Given the description of an element on the screen output the (x, y) to click on. 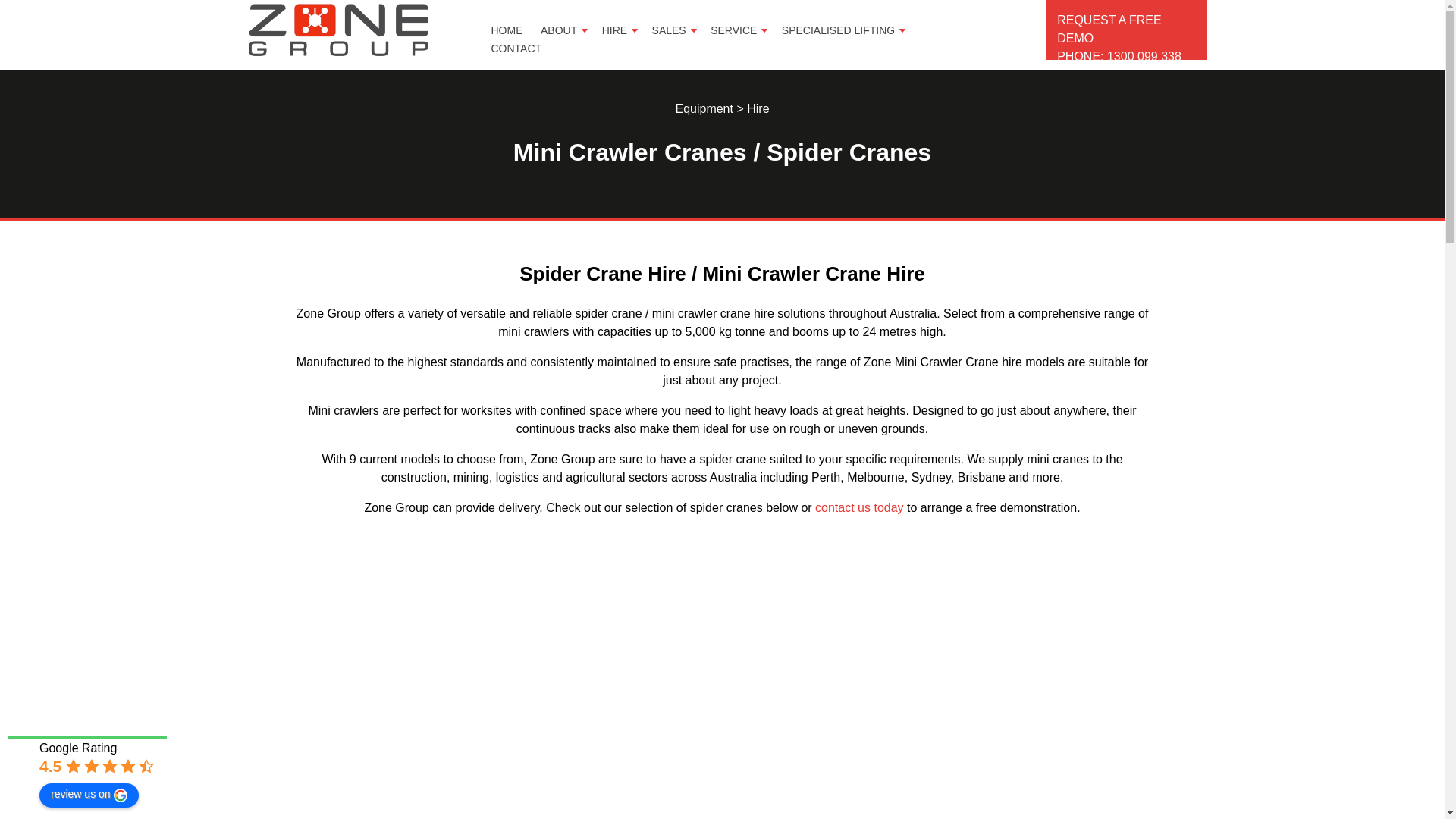
HOME (513, 30)
HIRE (619, 30)
SALES (674, 30)
ABOUT (564, 30)
SERVICE (738, 30)
